Given the description of an element on the screen output the (x, y) to click on. 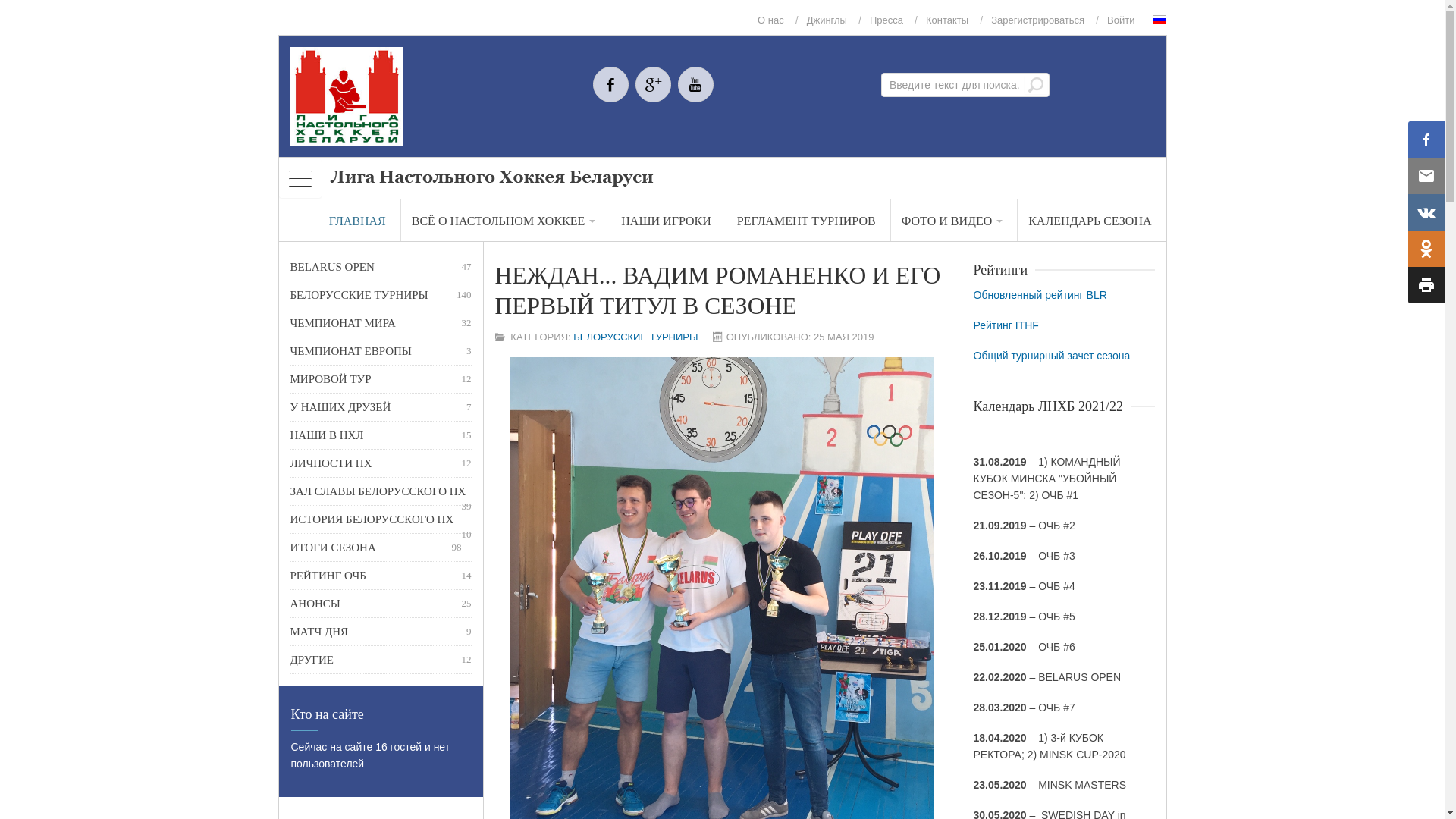
BELARUS OPEN
47 Element type: text (379, 266)
